Given the description of an element on the screen output the (x, y) to click on. 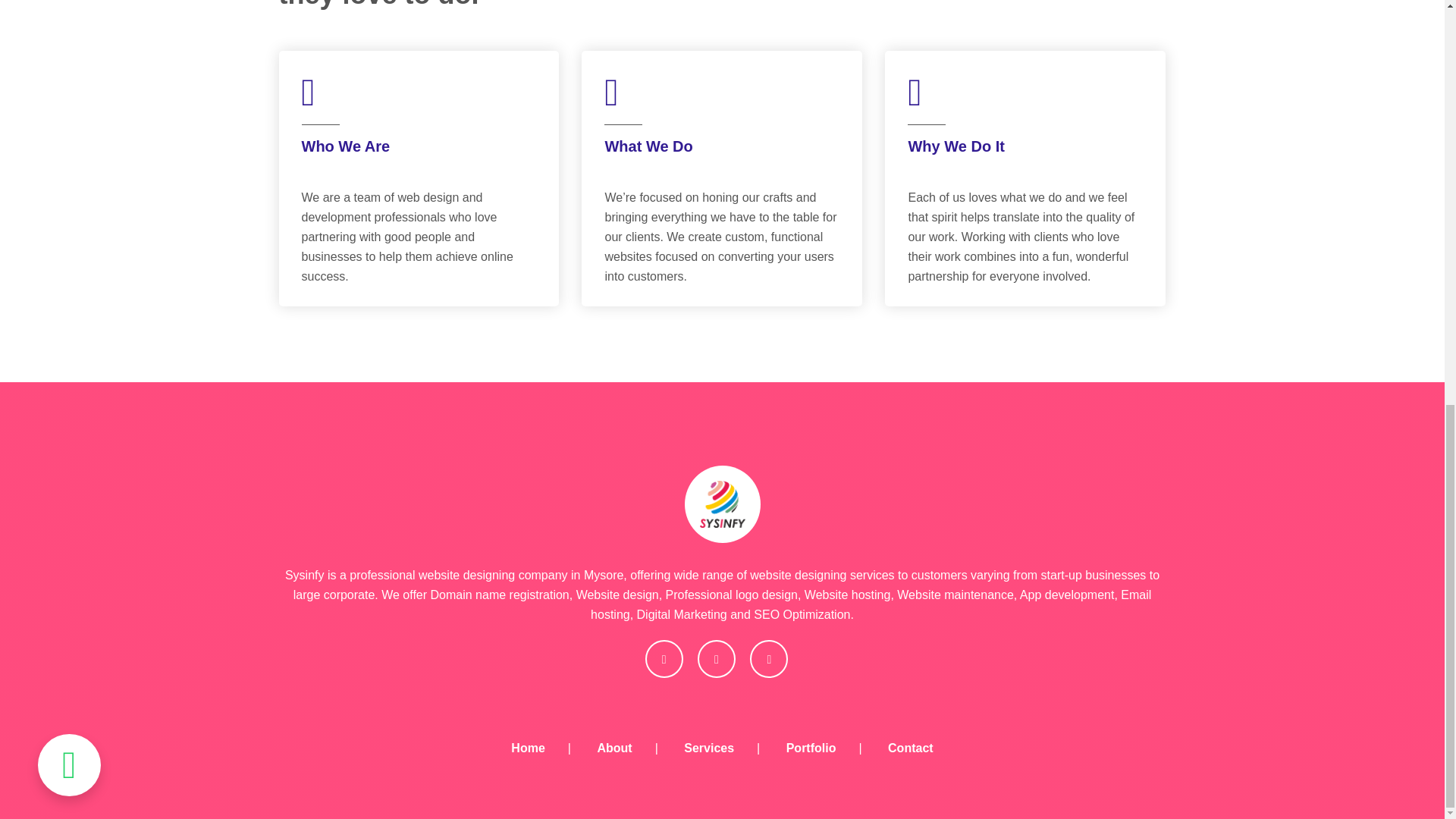
About (613, 748)
Home (527, 748)
Why We Do It (955, 146)
What We Do (648, 146)
Services (708, 748)
Who We Are (345, 146)
Portfolio (810, 748)
Contact (910, 748)
